Given the description of an element on the screen output the (x, y) to click on. 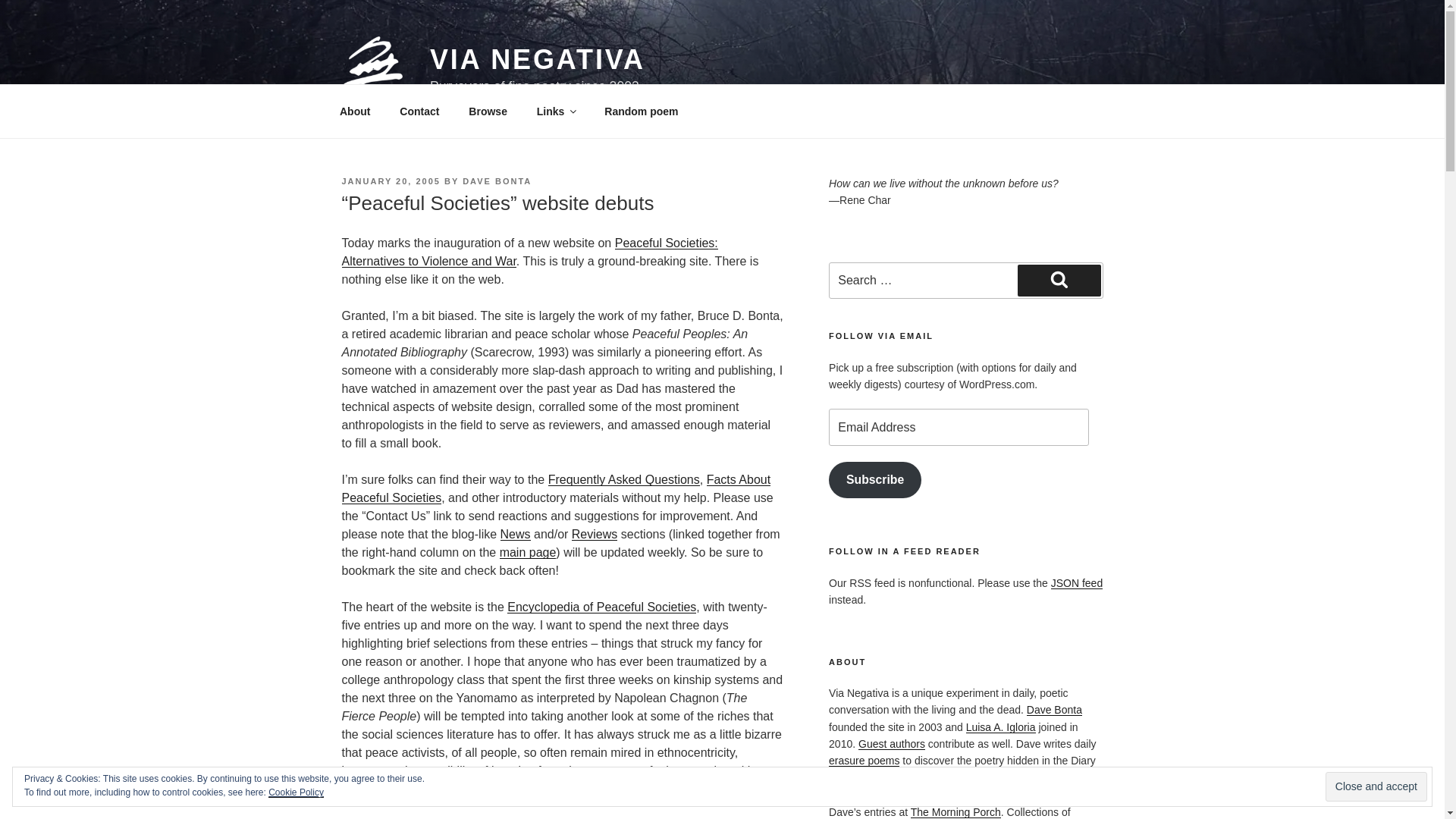
Links (555, 110)
Frequently Asked Questions (624, 479)
News (515, 533)
About Via Negativa (354, 110)
Close and accept (1375, 786)
JANUARY 20, 2005 (389, 180)
Browse (488, 110)
Encyclopedia of Peaceful Societies (600, 606)
DAVE BONTA (497, 180)
VIA NEGATIVA (537, 59)
